Given the description of an element on the screen output the (x, y) to click on. 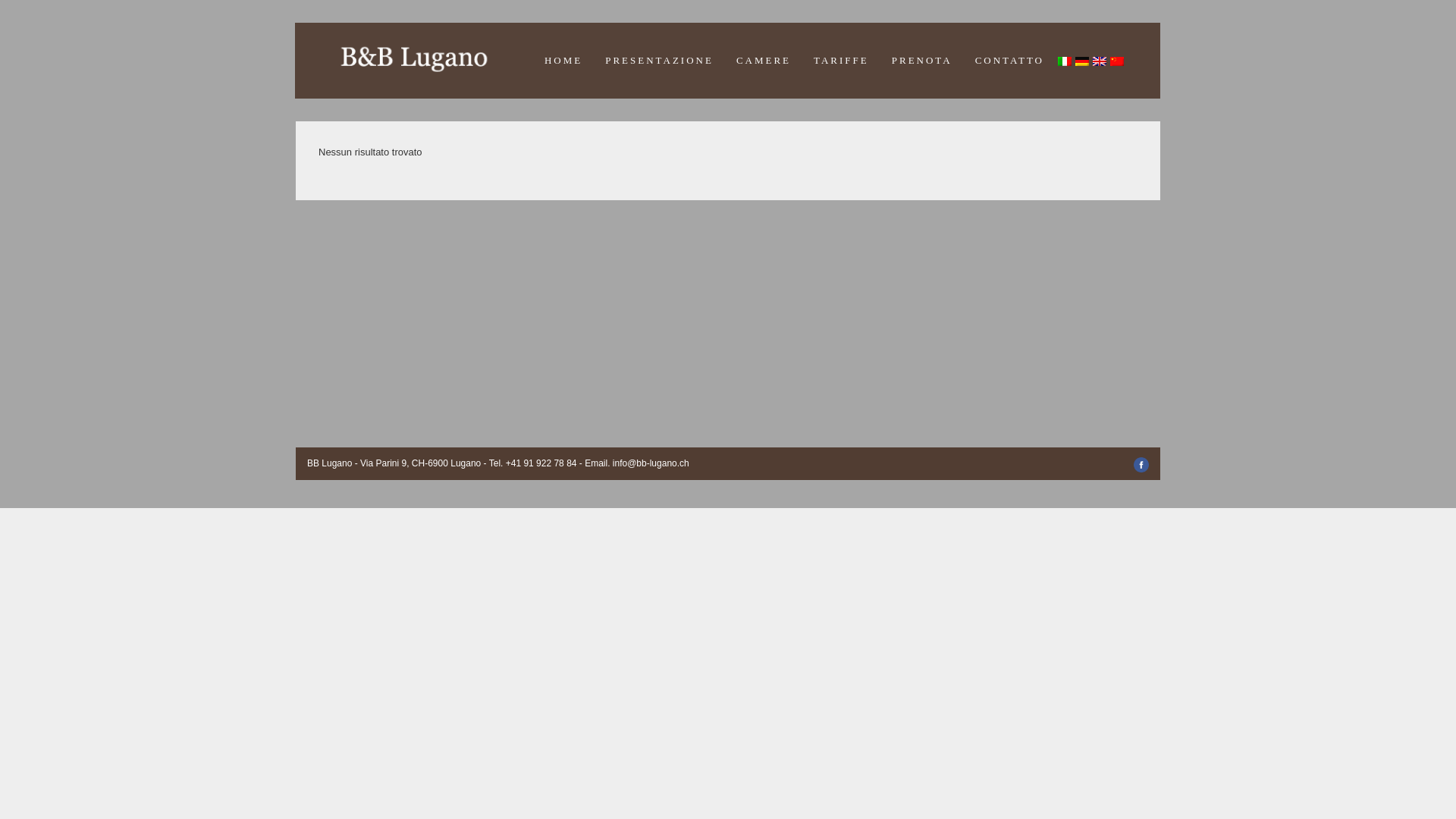
CAMERE Element type: text (763, 59)
TARIFFE Element type: text (841, 59)
English Element type: hover (1099, 62)
PRENOTA Element type: text (921, 59)
Italiano Element type: hover (1065, 62)
HOME Element type: text (563, 59)
PRESENTAZIONE Element type: text (658, 59)
Deutsch Element type: hover (1082, 62)
CONTATTO Element type: text (1009, 59)
